Given the description of an element on the screen output the (x, y) to click on. 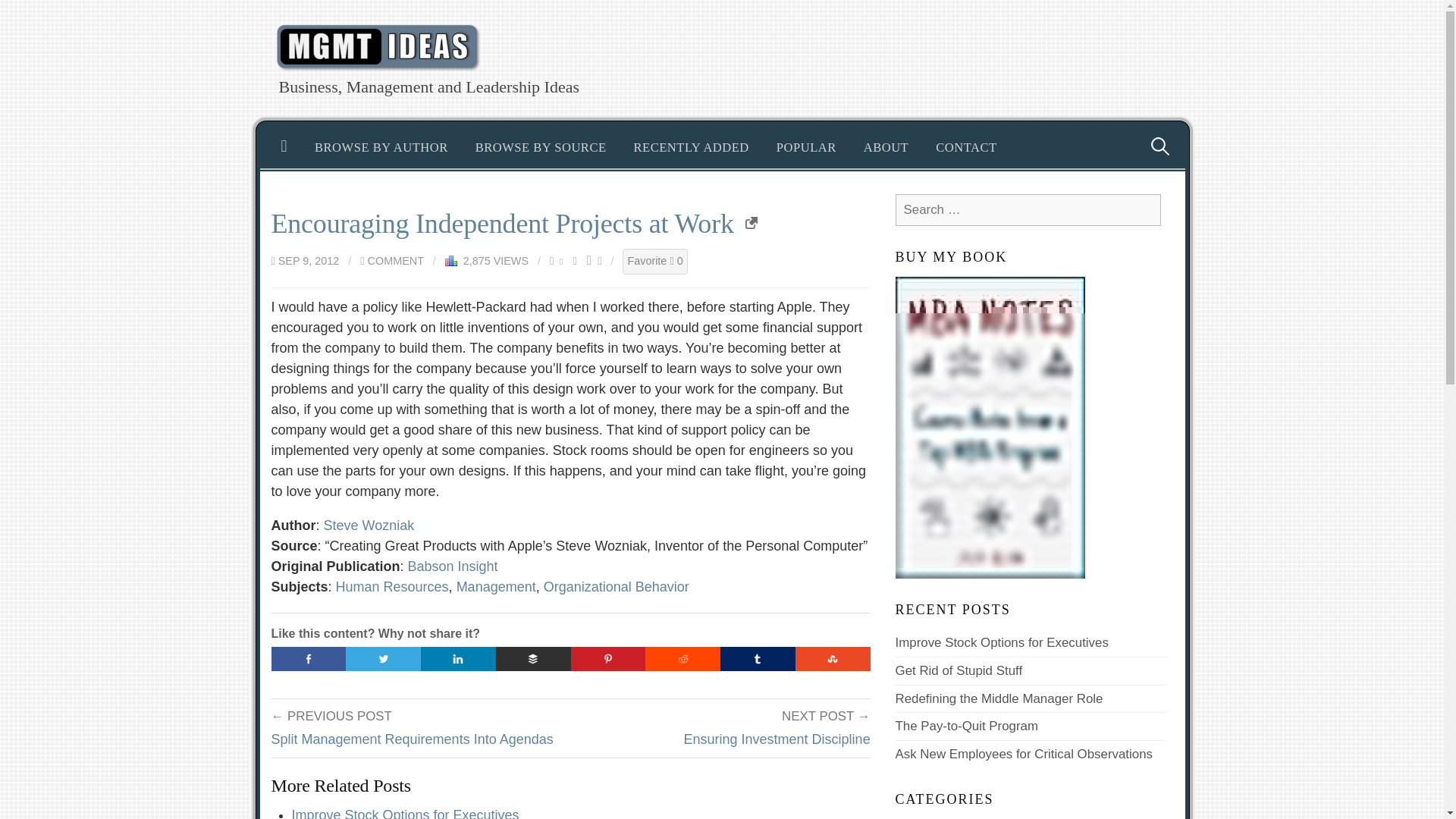
Split Management Requirements Into Agendas (411, 739)
BROWSE BY AUTHOR (381, 147)
Search (13, 13)
Improve Stock Options for Executives (404, 813)
RECENTLY ADDED (691, 147)
Babson Insight (452, 566)
Improve Stock Options for Executives (404, 813)
POPULAR (806, 147)
Twitter (383, 658)
